Given the description of an element on the screen output the (x, y) to click on. 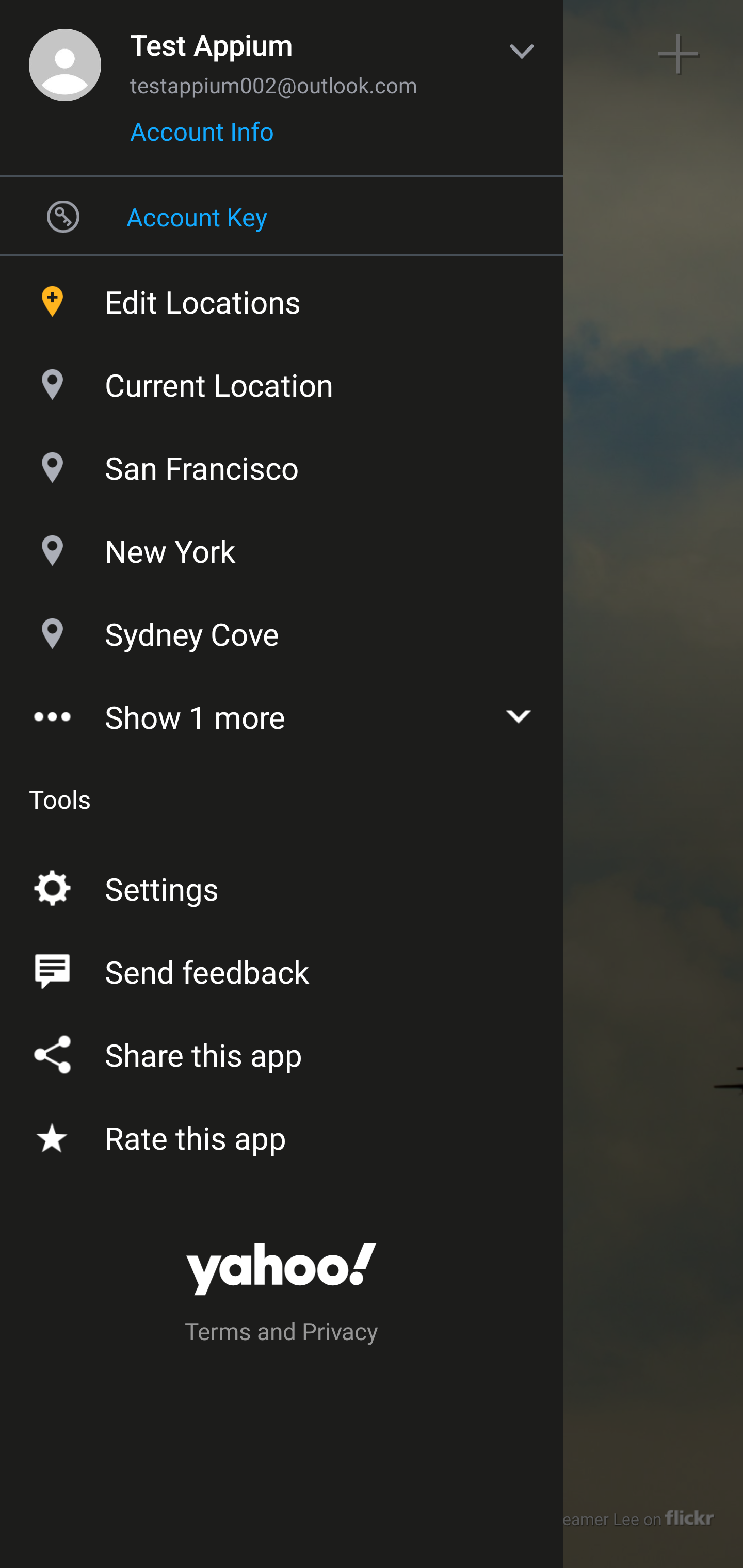
Sidebar (64, 54)
Account Info (202, 137)
Account Key (281, 216)
Edit Locations (281, 296)
Current Location (281, 379)
San Francisco (281, 462)
New York (281, 546)
Sydney Cove (281, 629)
Settings (281, 884)
Send feedback (281, 967)
Share this app (281, 1050)
Terms and Privacy Terms and privacy button (281, 1334)
